Given the description of an element on the screen output the (x, y) to click on. 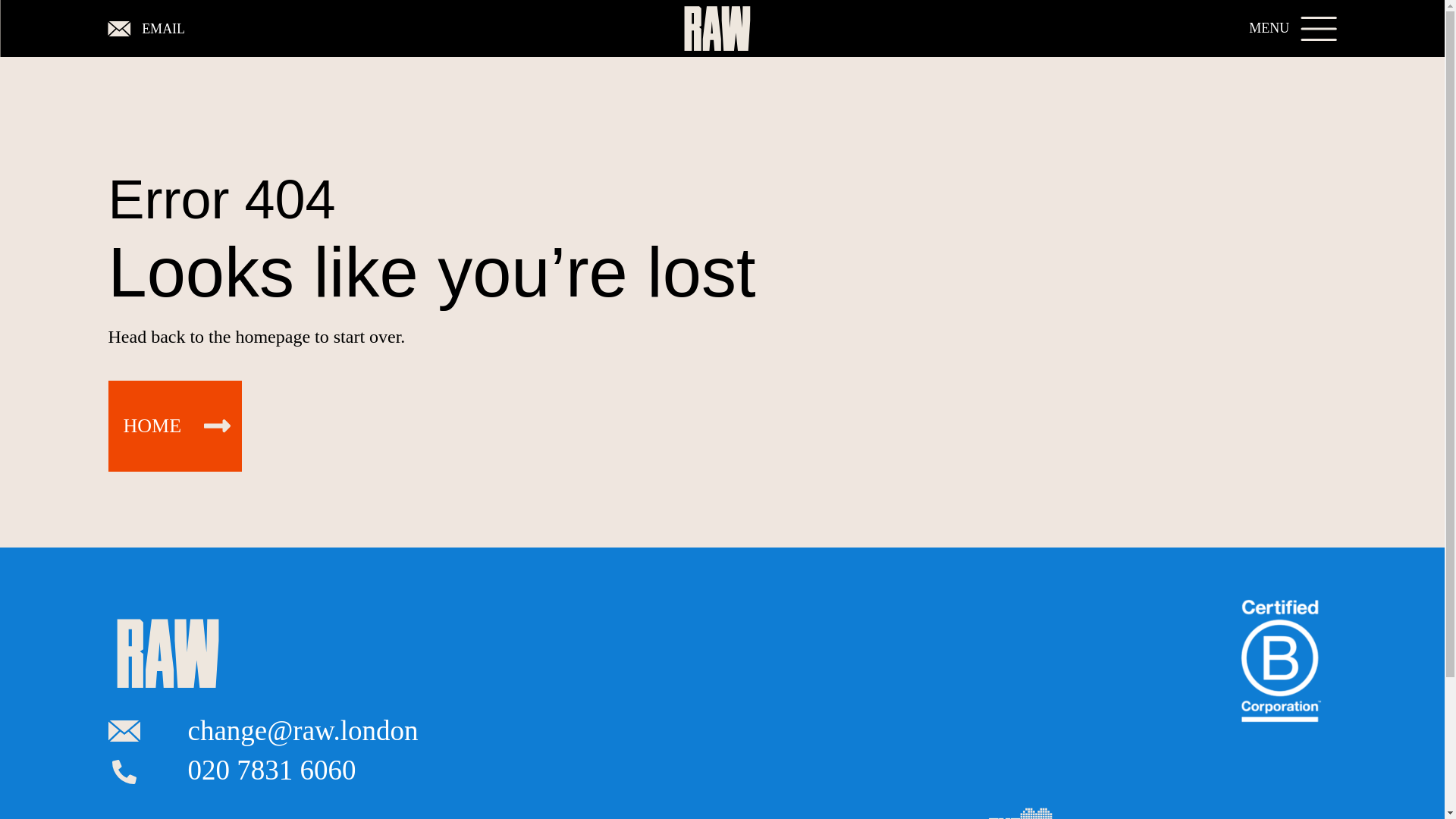
MENU (1292, 28)
call us (271, 769)
email us (303, 730)
EMAIL (145, 28)
HOME (174, 425)
020 7831 6060 (271, 769)
